Given the description of an element on the screen output the (x, y) to click on. 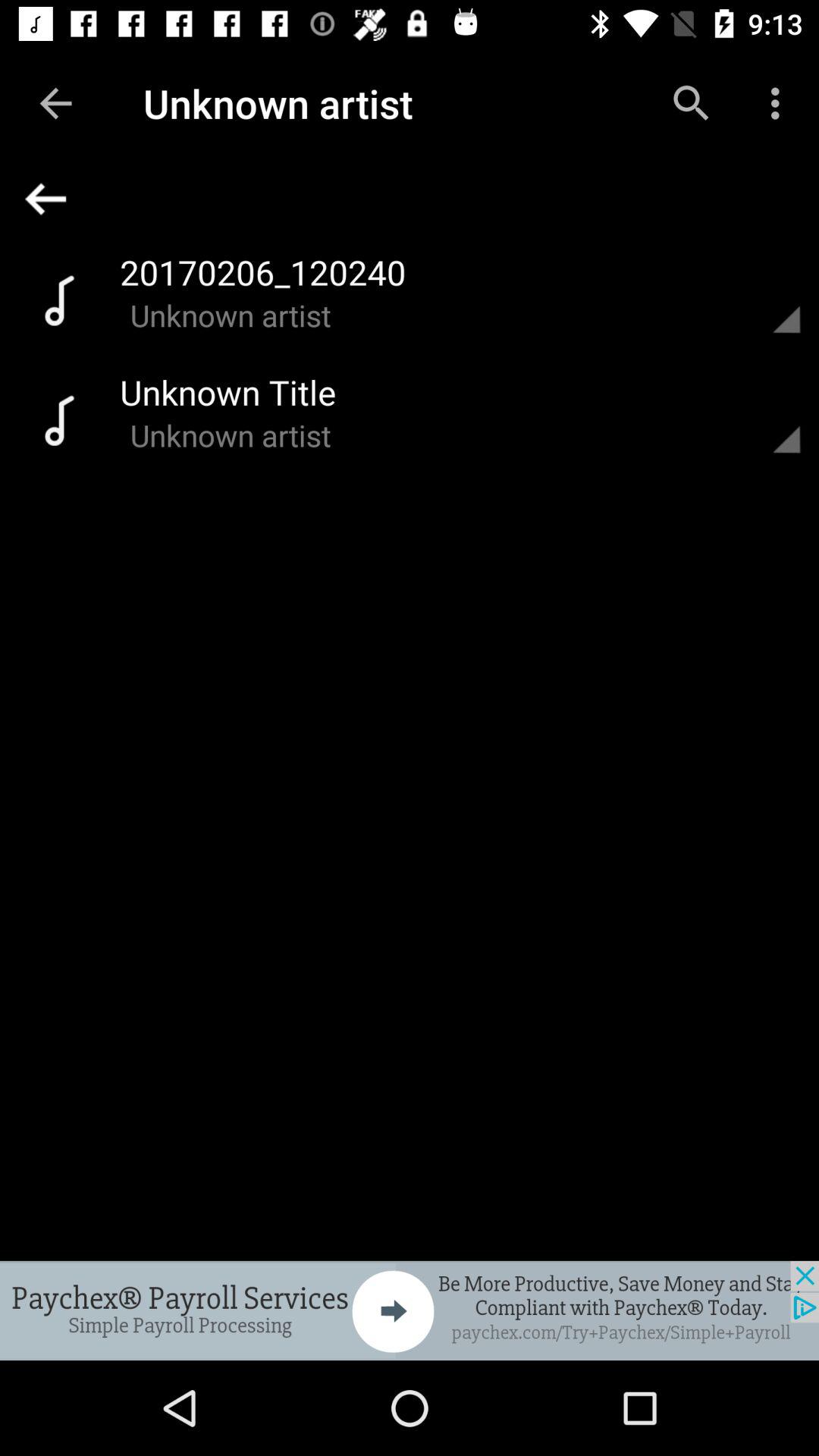
open for details (768, 298)
